Given the description of an element on the screen output the (x, y) to click on. 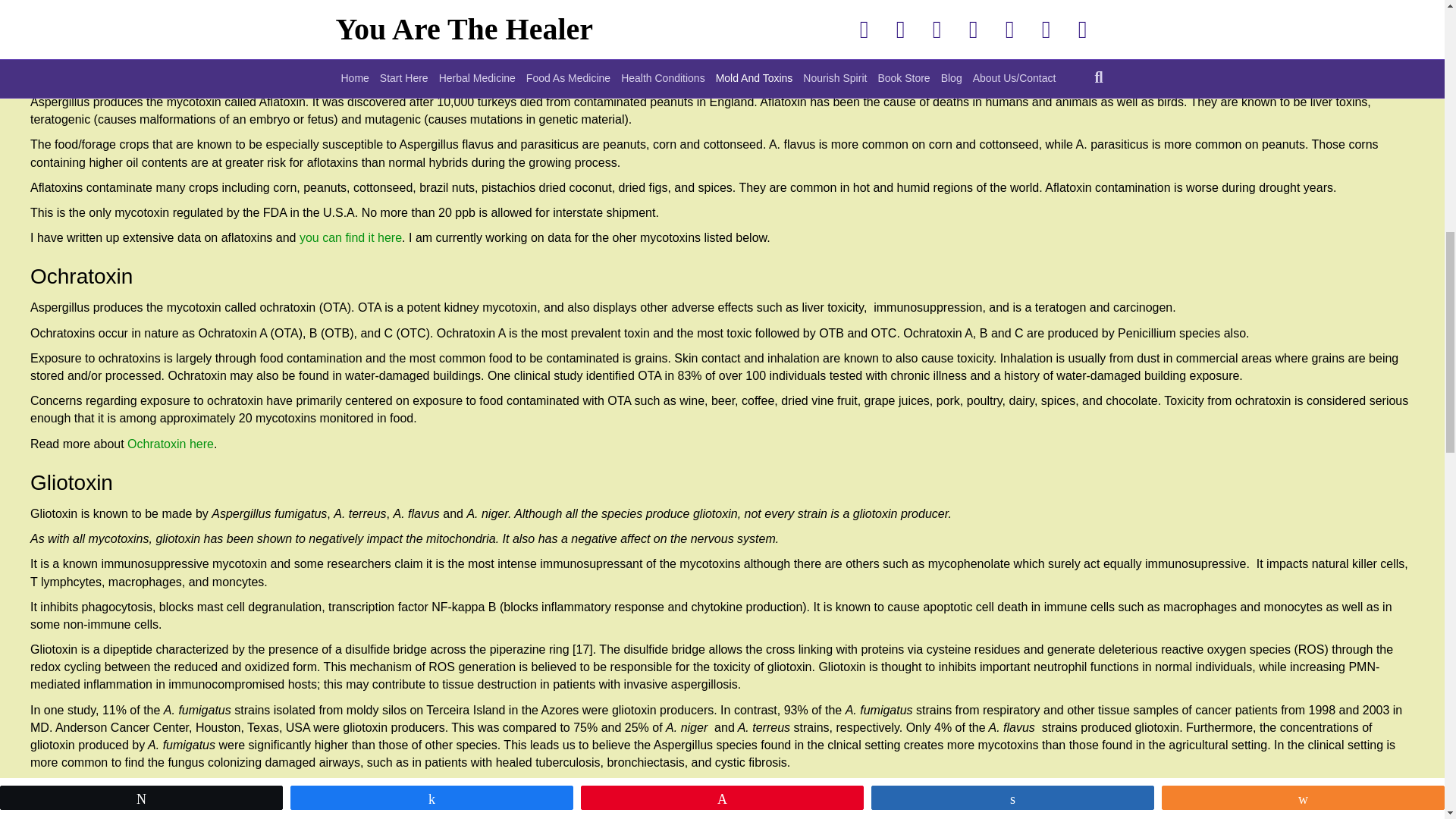
Aspergillus-niger-on-onion (1301, 27)
